Given the description of an element on the screen output the (x, y) to click on. 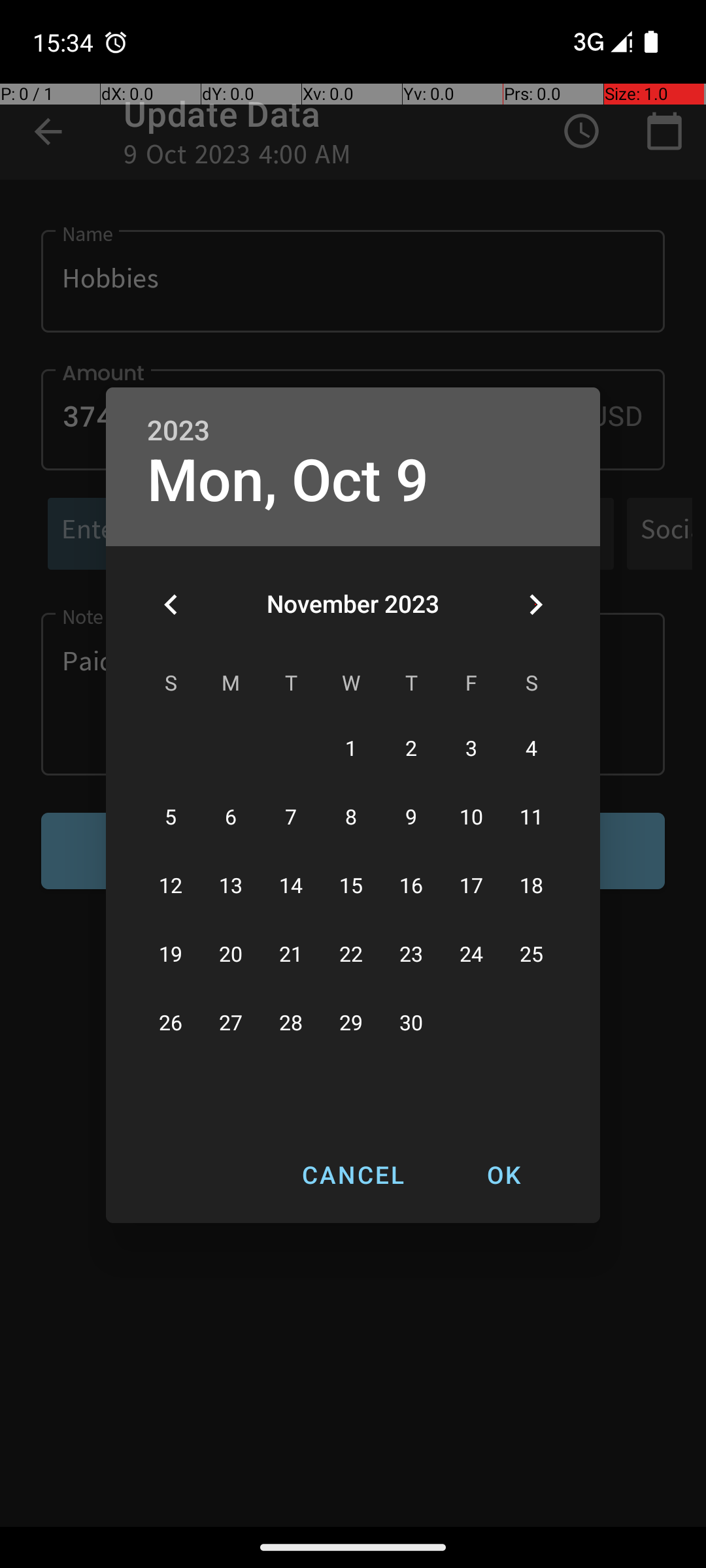
Mon, Oct 9 Element type: android.widget.TextView (287, 480)
